Given the description of an element on the screen output the (x, y) to click on. 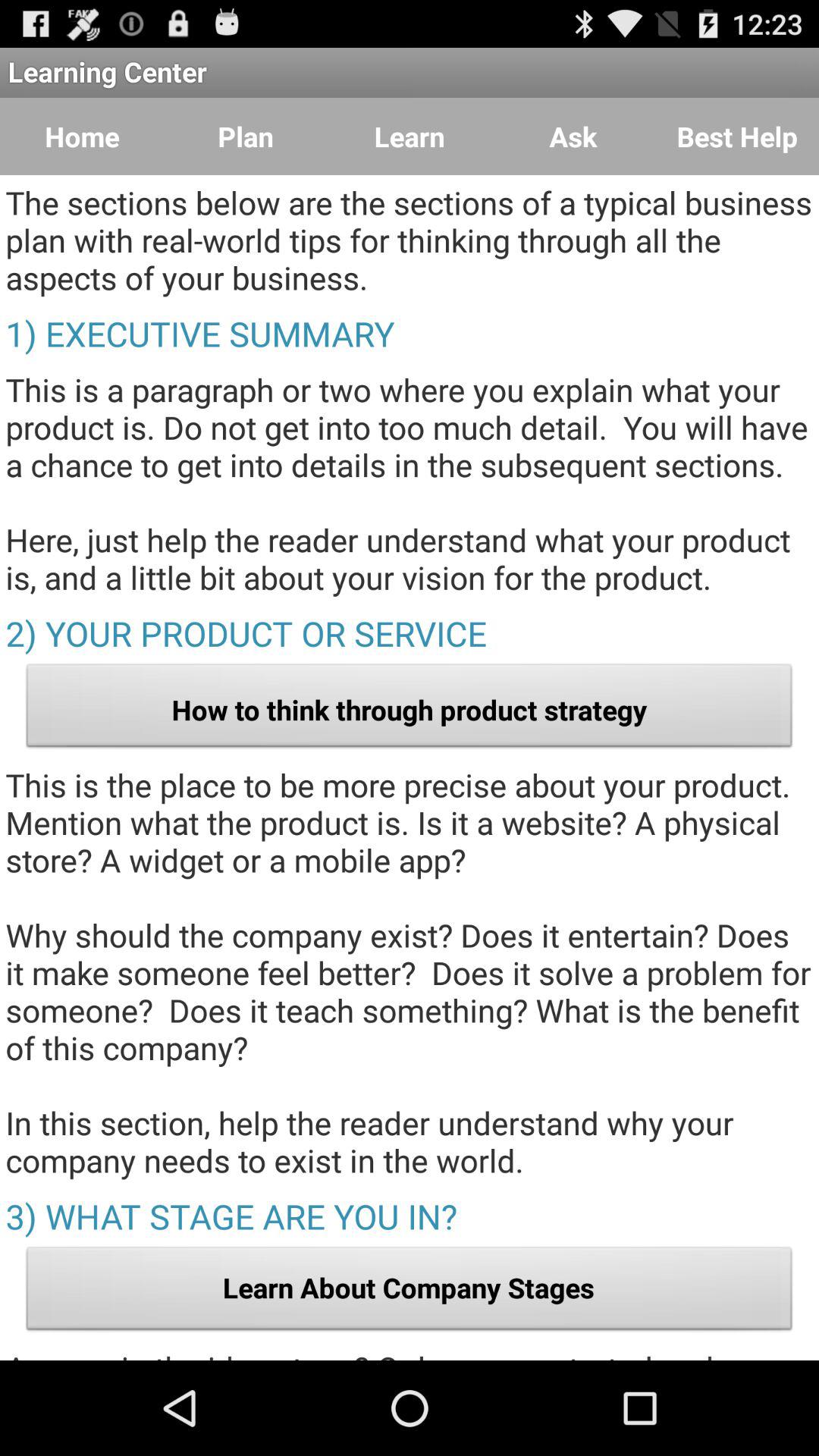
tap icon above the the sections below item (81, 136)
